Given the description of an element on the screen output the (x, y) to click on. 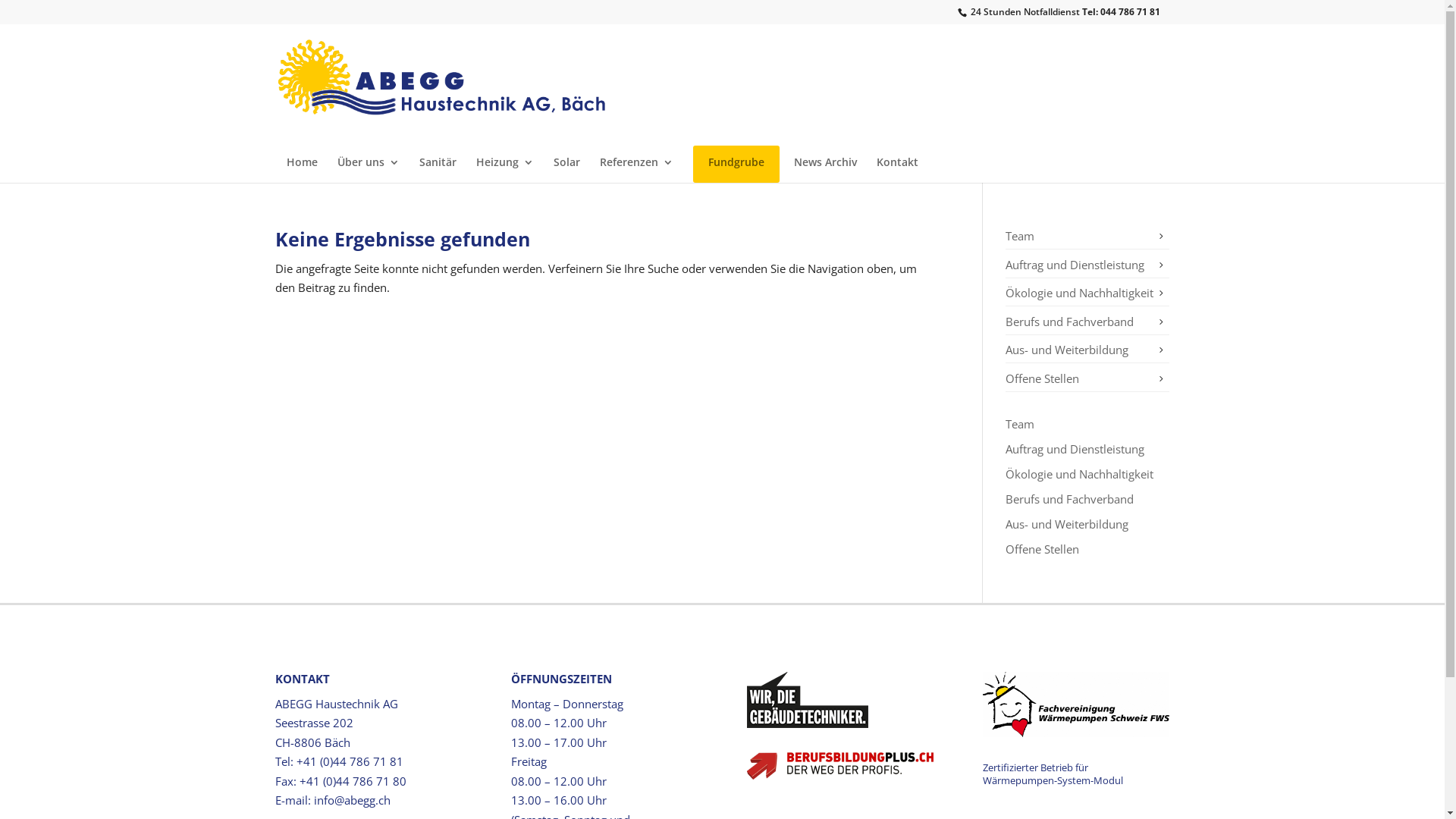
Offene Stellen Element type: text (1042, 548)
Aus- und Weiterbildung Element type: text (1066, 349)
Aus- und Weiterbildung Element type: text (1066, 522)
News Archiv Element type: text (824, 167)
Kontakt Element type: text (897, 167)
Heizung Element type: text (504, 167)
Referenzen Element type: text (635, 167)
Team Element type: text (1019, 235)
Berufs und Fachverband Element type: text (1069, 498)
Auftrag und Dienstleistung Element type: text (1074, 263)
Home Element type: text (301, 167)
Team Element type: text (1019, 422)
Fundgrube Element type: text (736, 167)
Offene Stellen Element type: text (1042, 377)
Berufs und Fachverband Element type: text (1069, 321)
info@abegg.ch Element type: text (351, 799)
Solar Element type: text (566, 167)
Auftrag und Dienstleistung Element type: text (1074, 448)
